Given the description of an element on the screen output the (x, y) to click on. 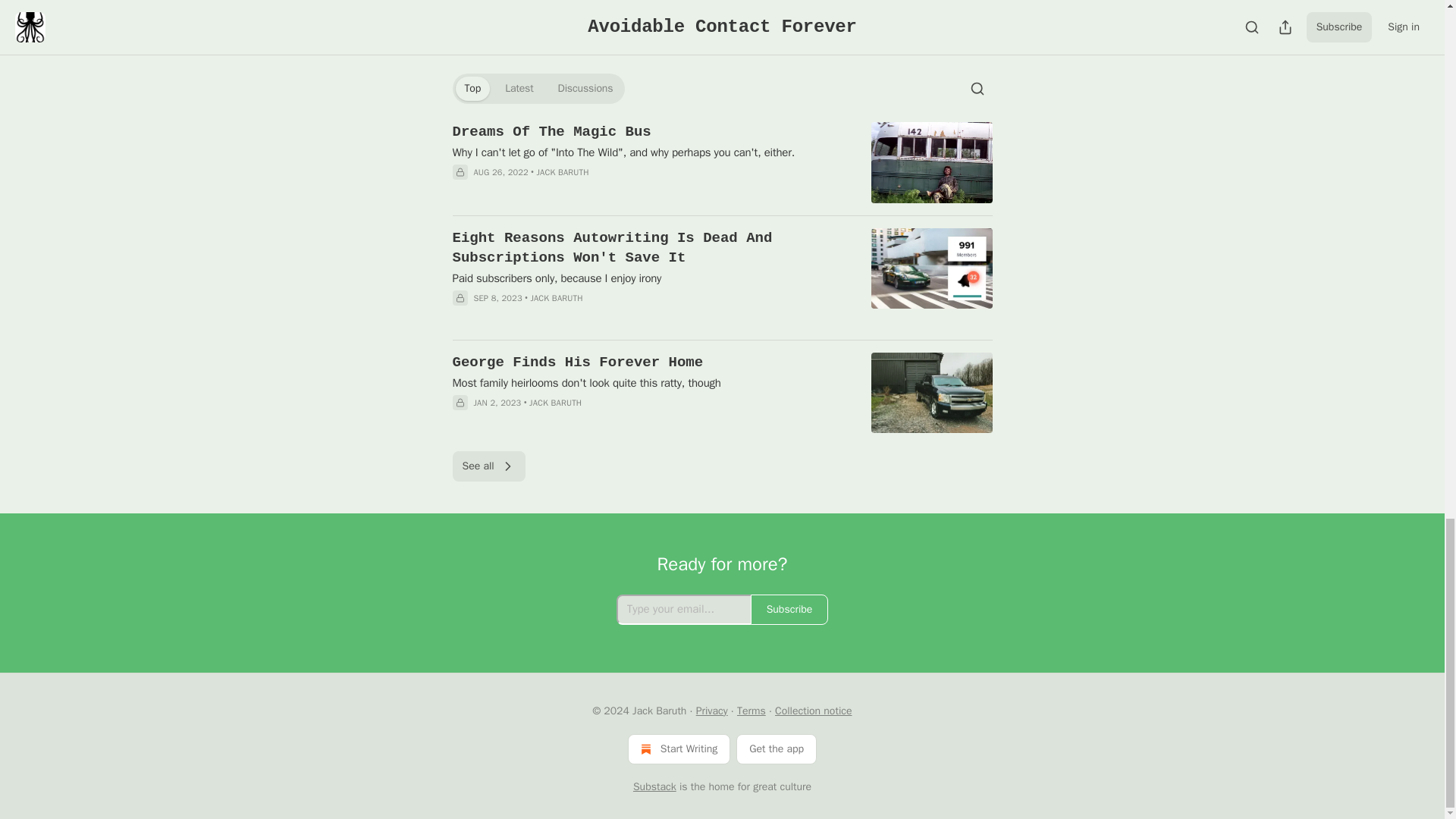
Top (471, 88)
Latest (518, 88)
Discussions (585, 88)
Dreams Of The Magic Bus (651, 131)
